Given the description of an element on the screen output the (x, y) to click on. 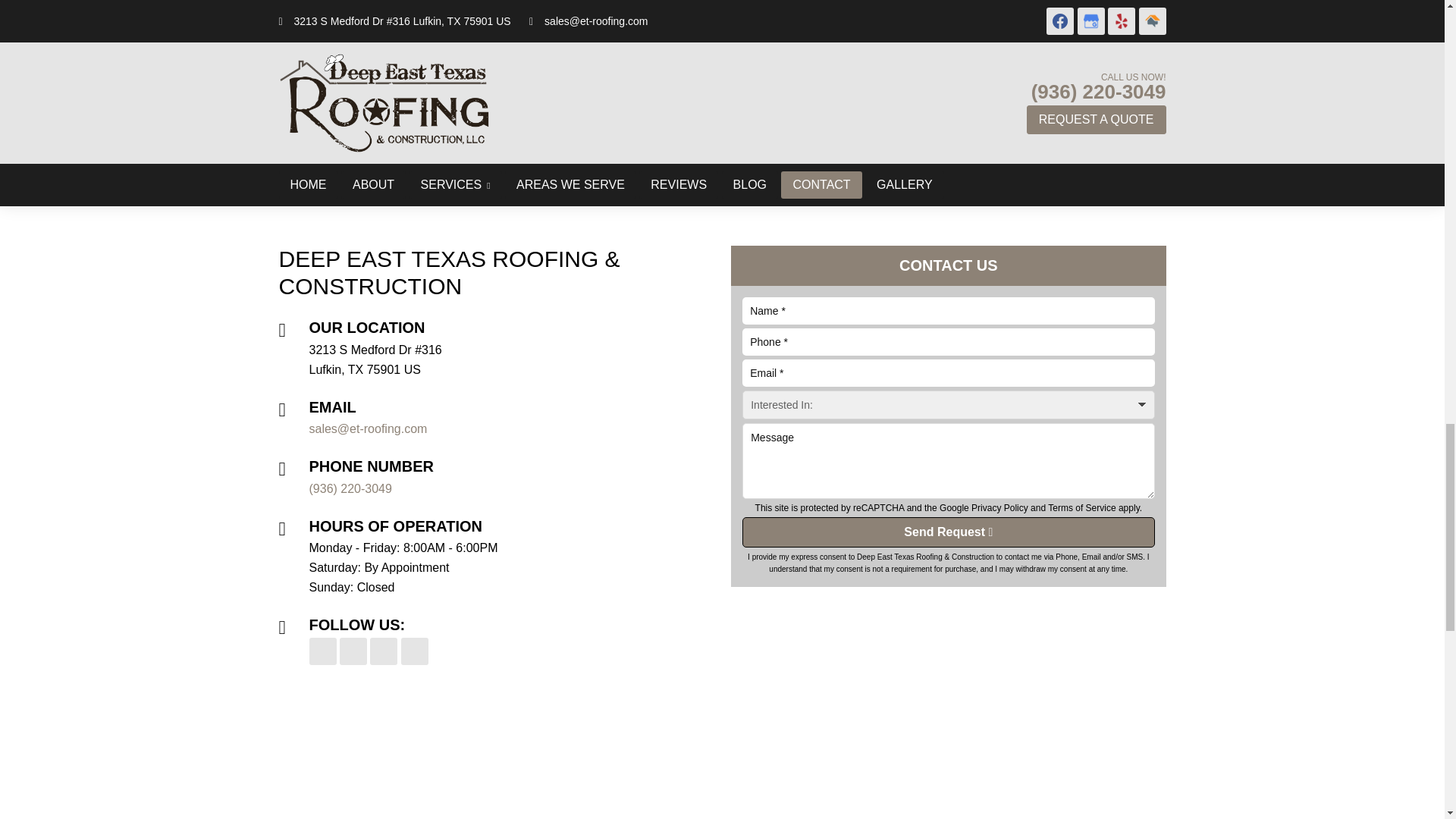
Facebook (322, 650)
Google Business Profile (764, 91)
Yelp (383, 650)
Google Business Profile (352, 650)
Facebook (883, 91)
Home Advisor (414, 650)
